Given the description of an element on the screen output the (x, y) to click on. 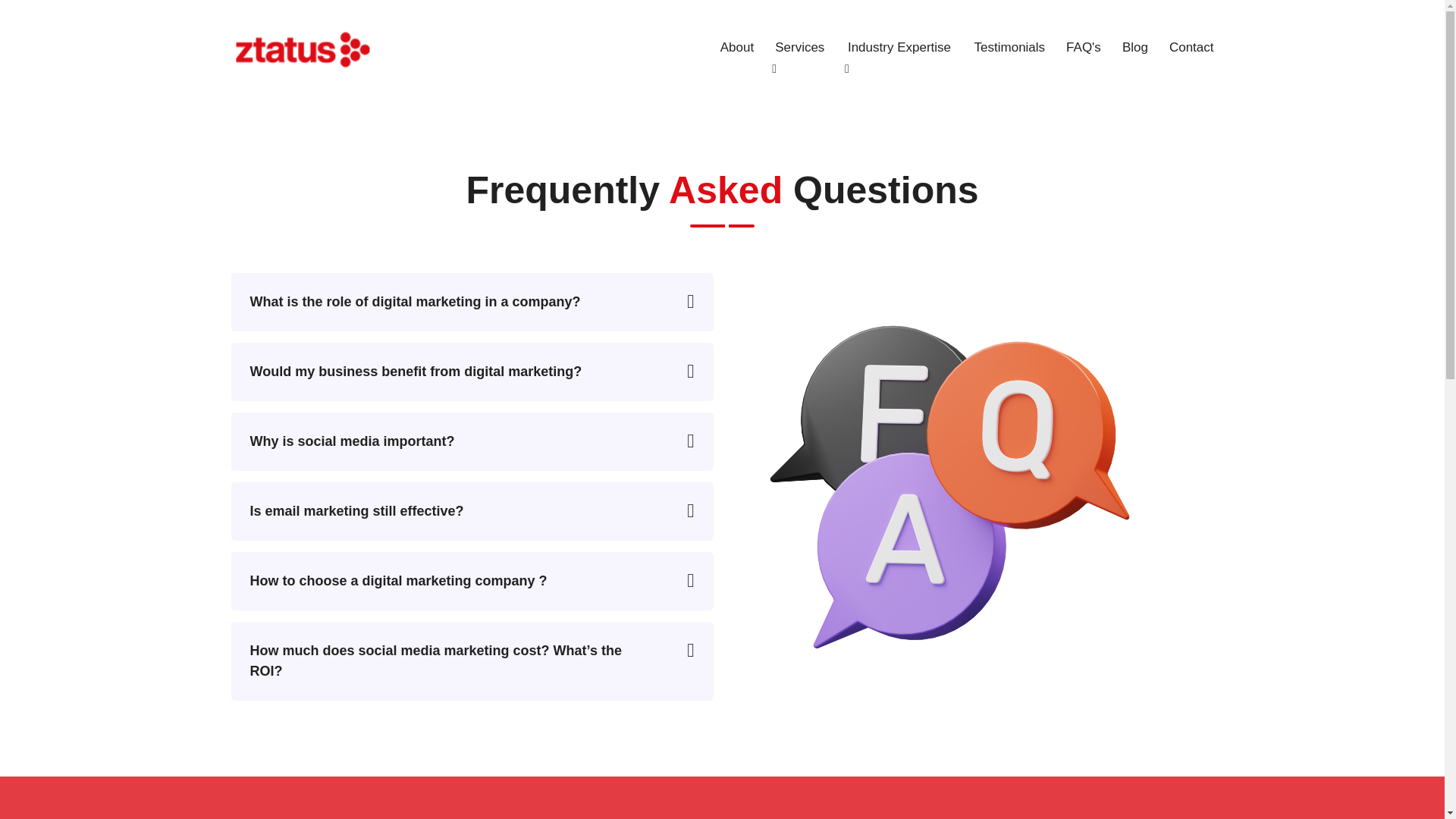
Industry Expertise (900, 47)
Why is social media important? (472, 441)
How to choose a digital marketing company ? (472, 580)
What is the role of digital marketing in a company? (472, 301)
Would my business benefit from digital marketing? (472, 371)
Is email marketing still effective? (472, 511)
Testimonials (1009, 38)
